Given the description of an element on the screen output the (x, y) to click on. 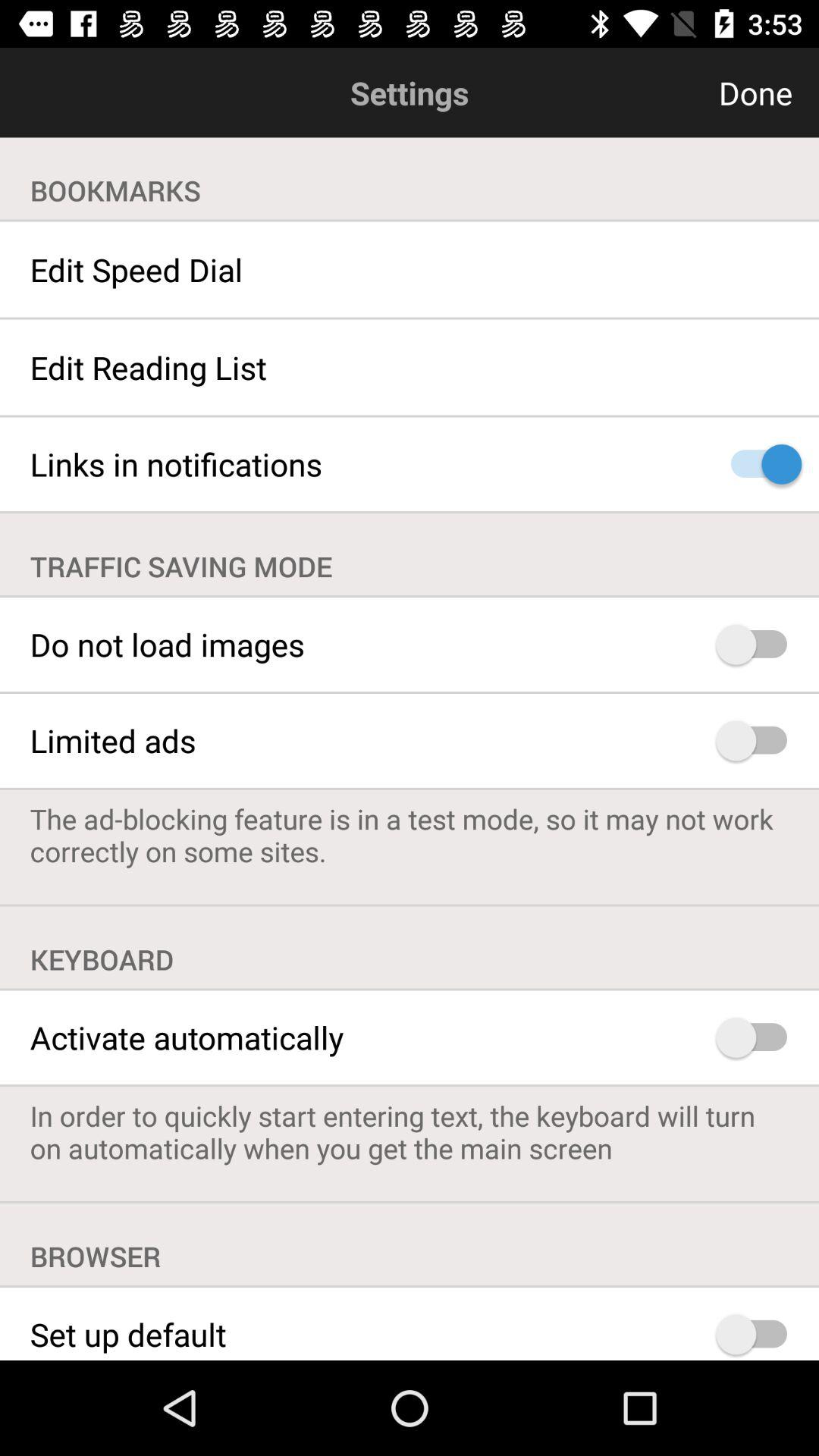
turn on the edit reading list item (409, 367)
